Given the description of an element on the screen output the (x, y) to click on. 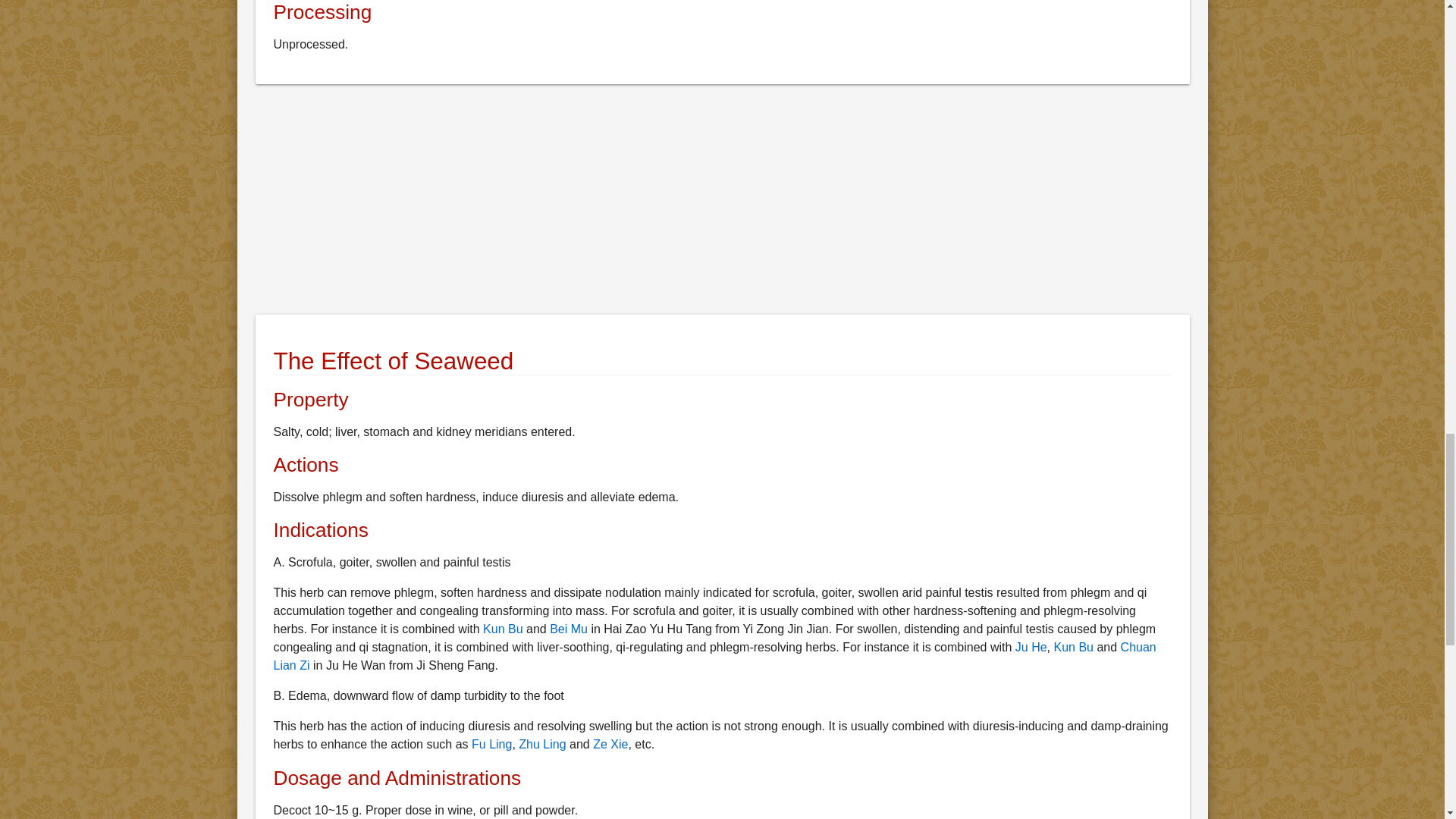
Chuan Lian Zi (714, 655)
Ze Xie (609, 744)
Fu Ling (491, 744)
Kun Bu (502, 628)
Bei Mu (569, 628)
Zhu Ling (542, 744)
Kun Bu (1073, 646)
Ju He (1030, 646)
